Given the description of an element on the screen output the (x, y) to click on. 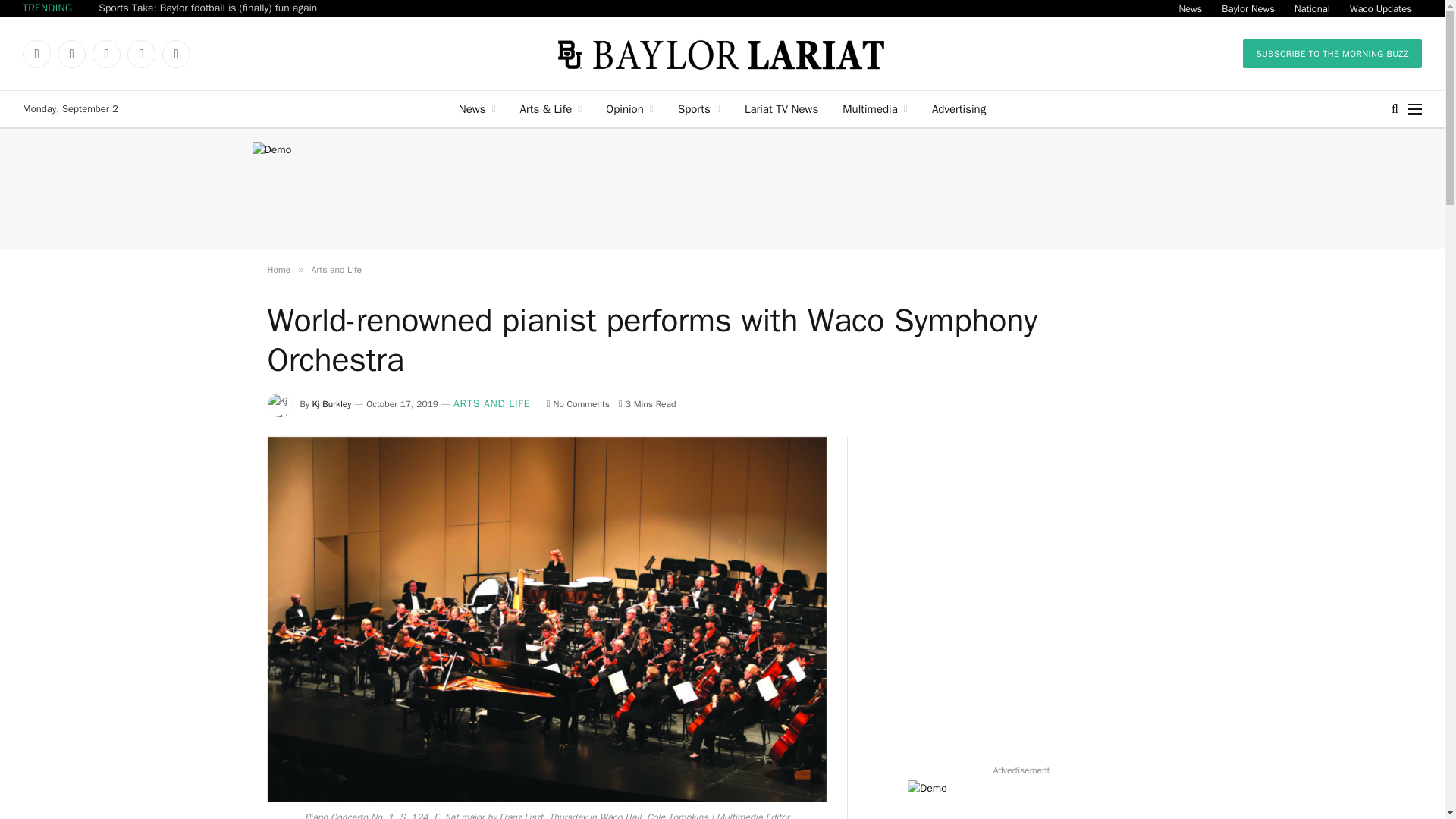
National (1311, 8)
SUBSCRIBE TO THE MORNING BUZZ (1332, 53)
Facebook (36, 53)
News (477, 108)
The Baylor Lariat (722, 53)
YouTube (141, 53)
Instagram (106, 53)
Baylor News (1247, 8)
LinkedIn (175, 53)
